Given the description of an element on the screen output the (x, y) to click on. 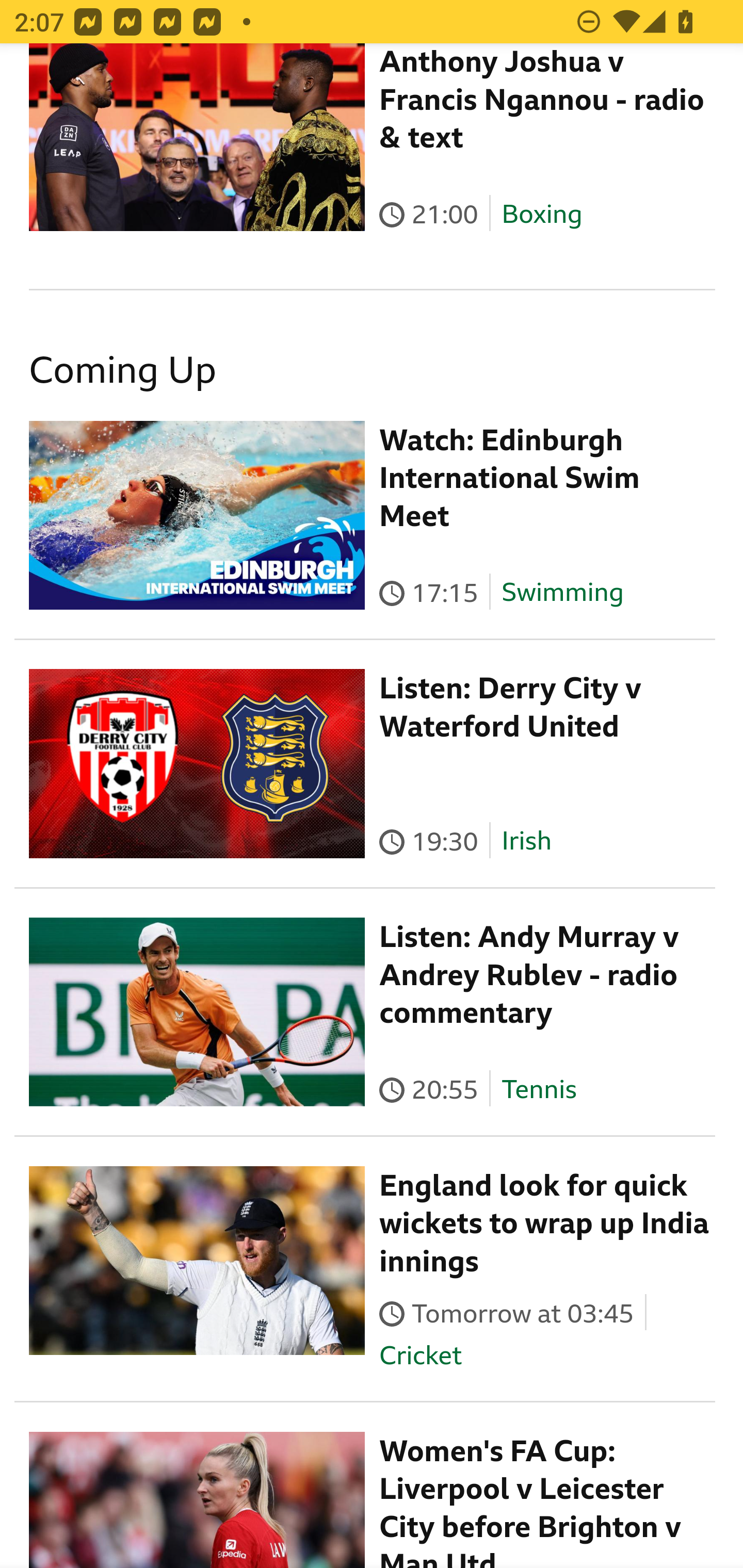
Anthony Joshua v Francis Ngannou - radio & text (541, 100)
Boxing (541, 214)
Watch: Edinburgh International Swim Meet (509, 477)
Swimming (562, 592)
Listen: Derry City v Waterford United (510, 707)
Irish (526, 840)
Tennis (539, 1089)
Cricket (420, 1355)
